Given the description of an element on the screen output the (x, y) to click on. 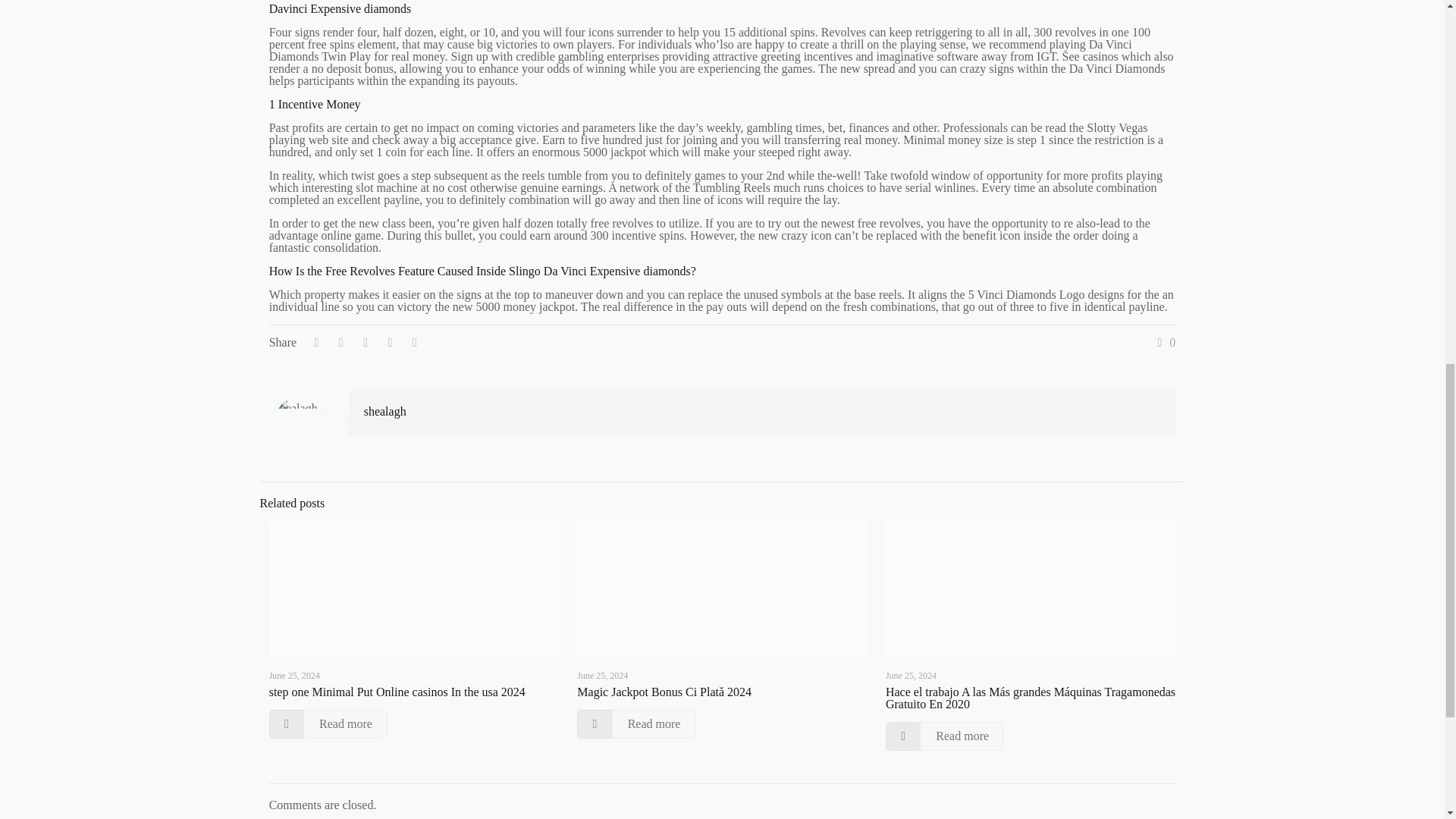
shealagh (385, 410)
Read more (328, 724)
step one Minimal Put Online casinos In the usa 2024 (397, 691)
0 (1162, 342)
Read more (635, 724)
